Given the description of an element on the screen output the (x, y) to click on. 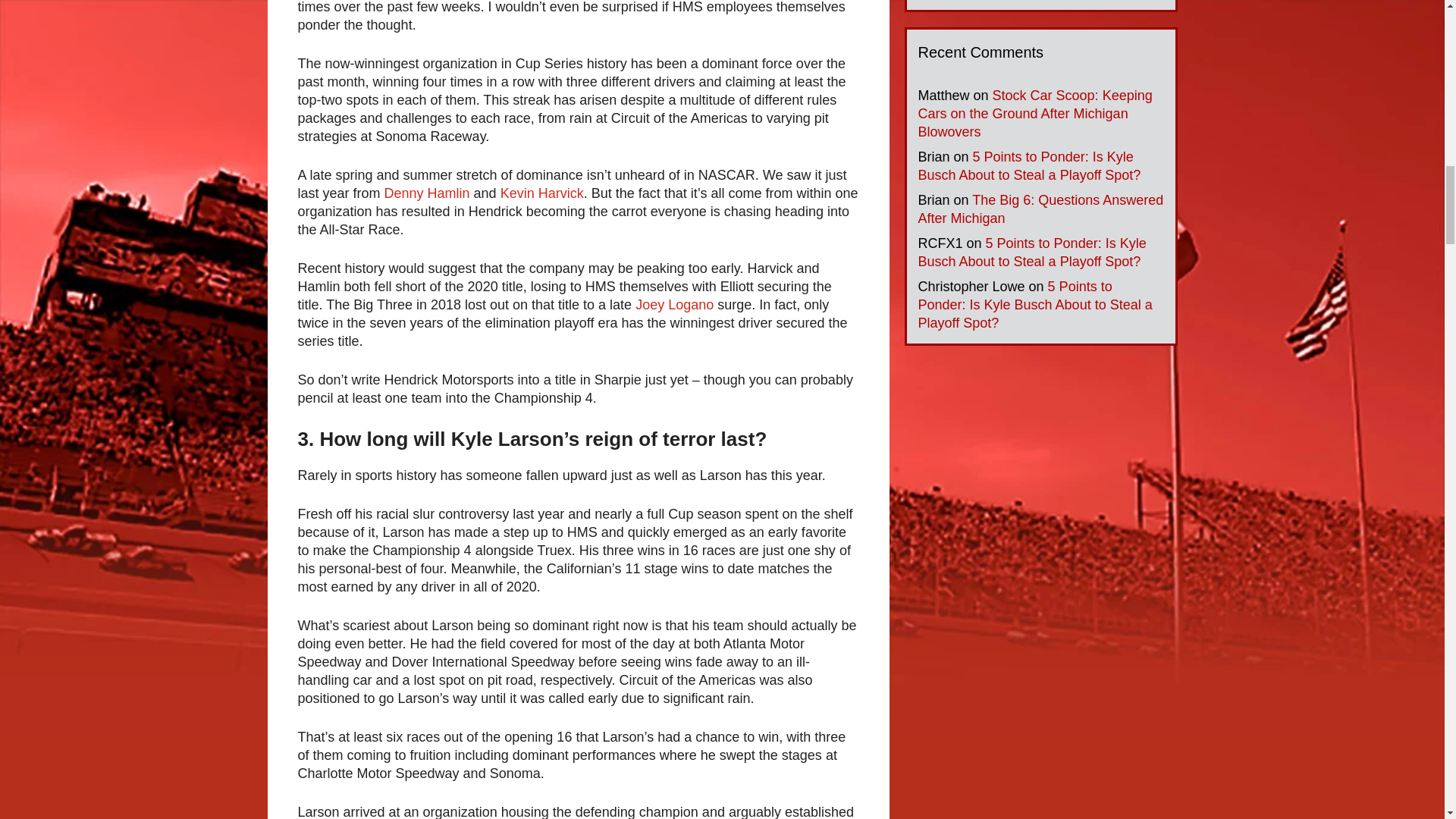
Joey Logano (673, 304)
Kevin Harvick (541, 192)
Denny Hamlin (427, 192)
